Given the description of an element on the screen output the (x, y) to click on. 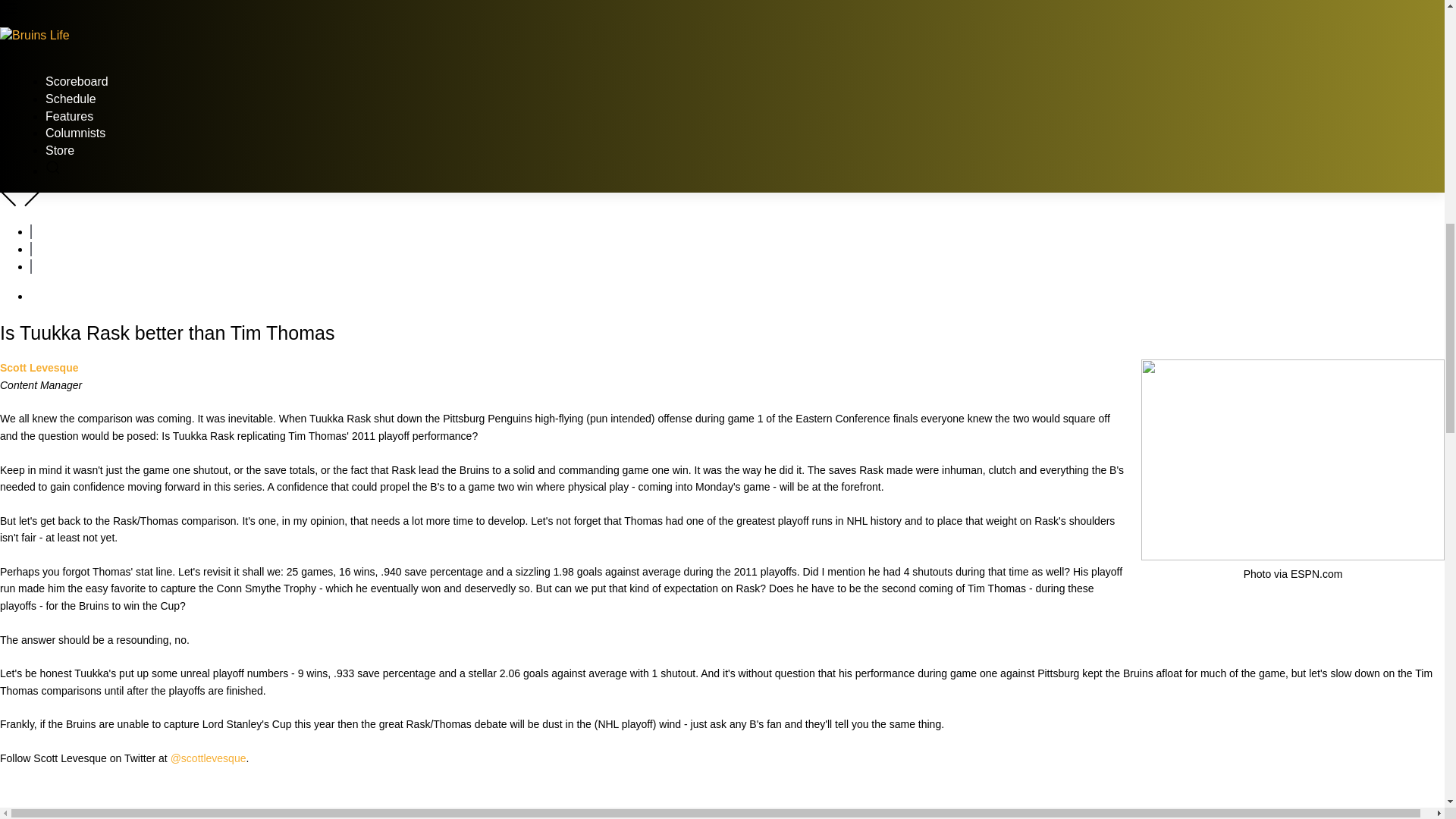
Advertisement (721, 793)
Scott Levesque (39, 367)
